Given the description of an element on the screen output the (x, y) to click on. 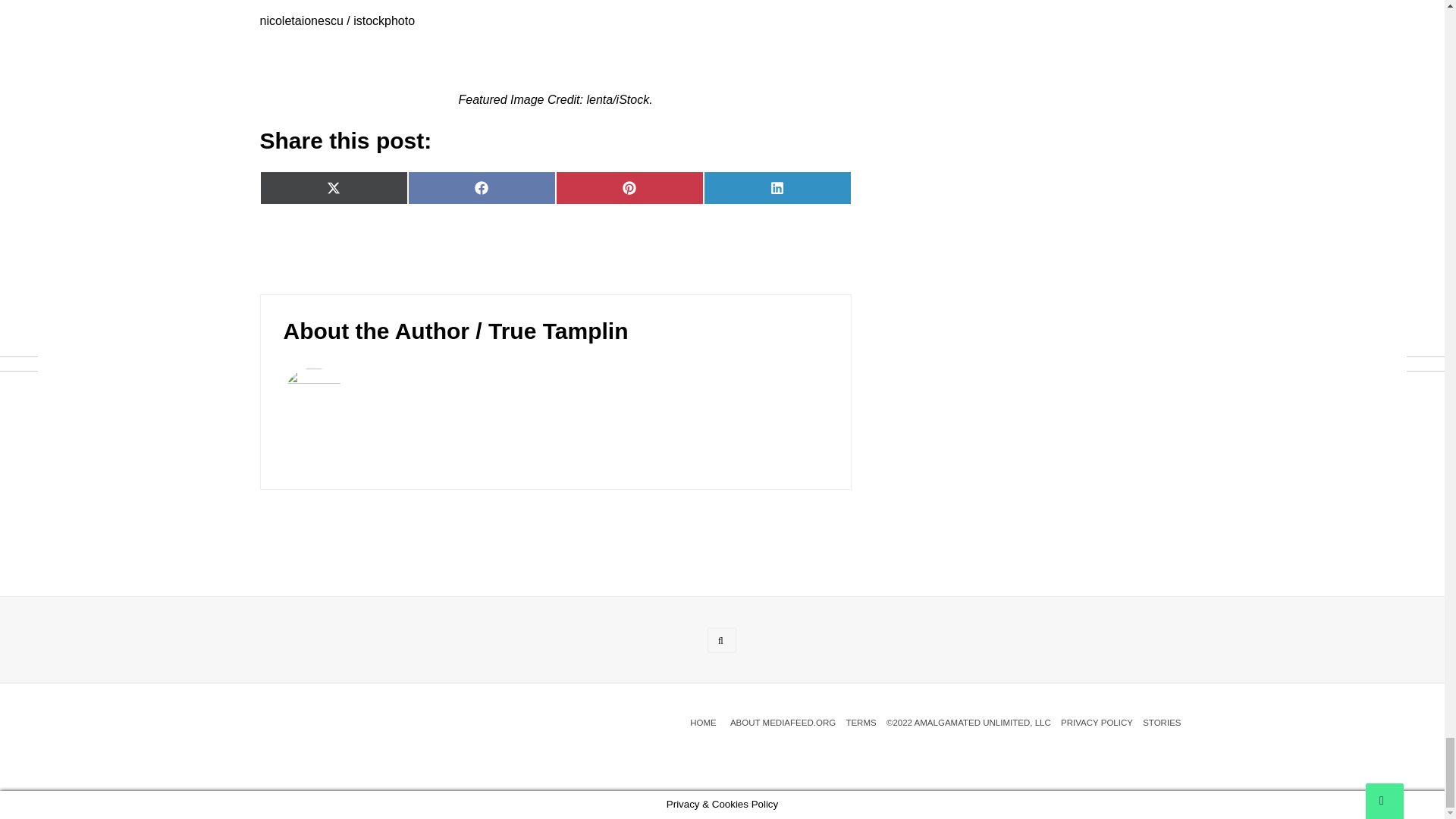
Posts by True Tamplin (557, 330)
Share on Facebook (481, 187)
